Given the description of an element on the screen output the (x, y) to click on. 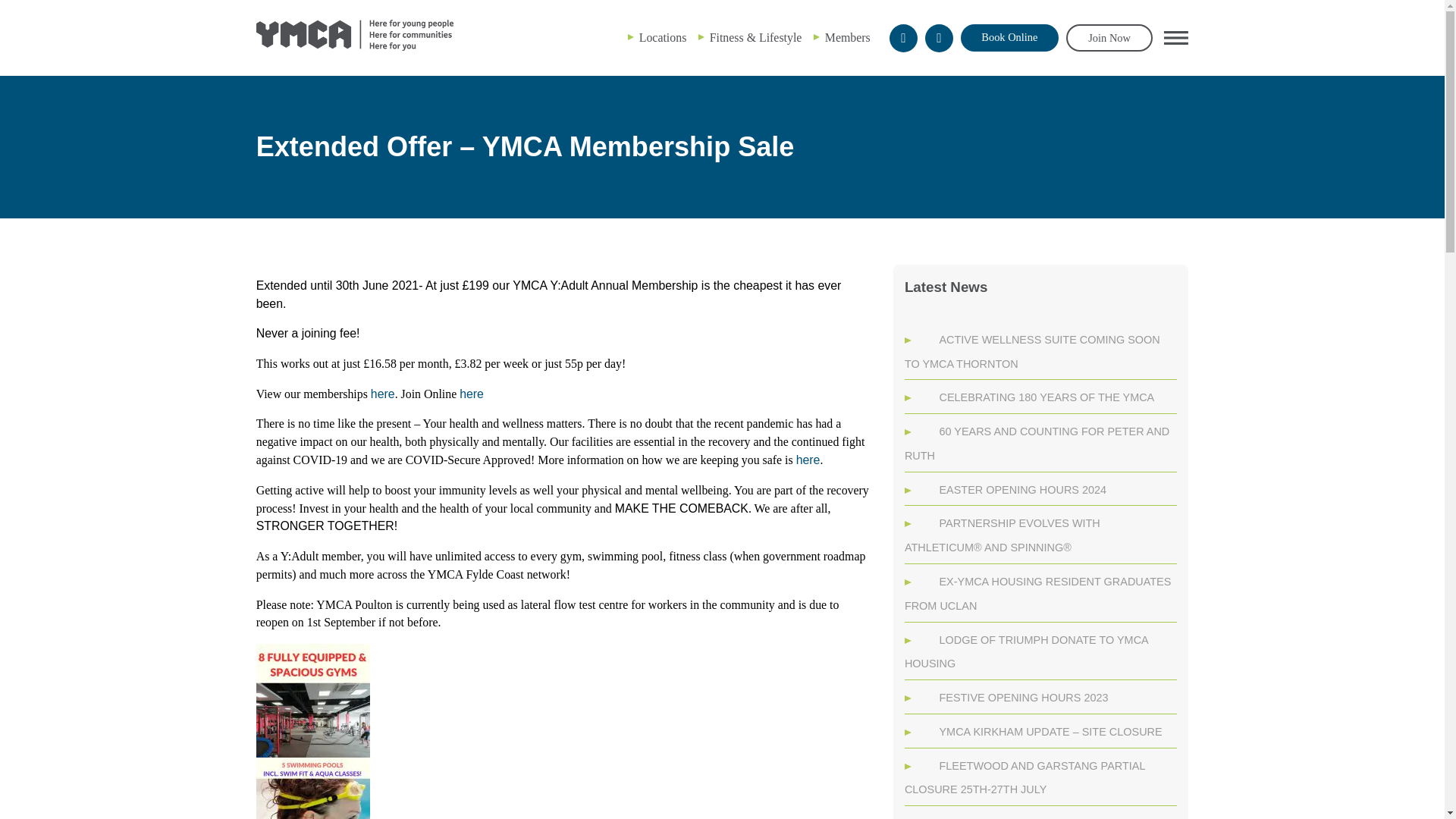
Book Online (1009, 38)
Members (847, 37)
Locations (662, 37)
Join Now (1109, 37)
